Given the description of an element on the screen output the (x, y) to click on. 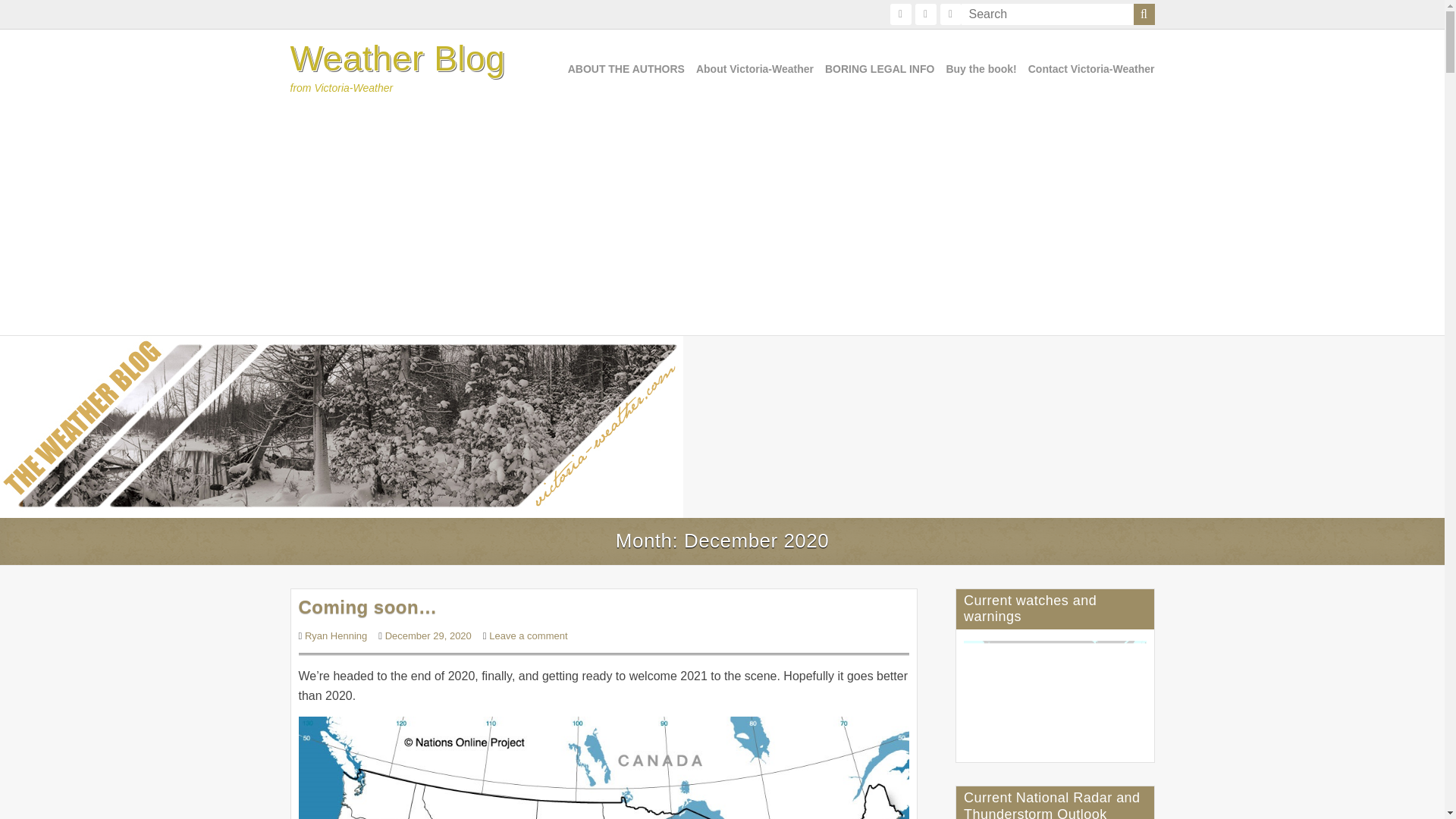
Weather Blog (397, 58)
BORING LEGAL INFO (879, 69)
Ryan Henning (335, 635)
Contact Victoria-Weather (1090, 69)
Buy the book! (980, 69)
About Victoria-Weather (754, 69)
Leave a comment (528, 635)
ABOUT THE AUTHORS (625, 69)
December 29, 2020 (428, 635)
